Given the description of an element on the screen output the (x, y) to click on. 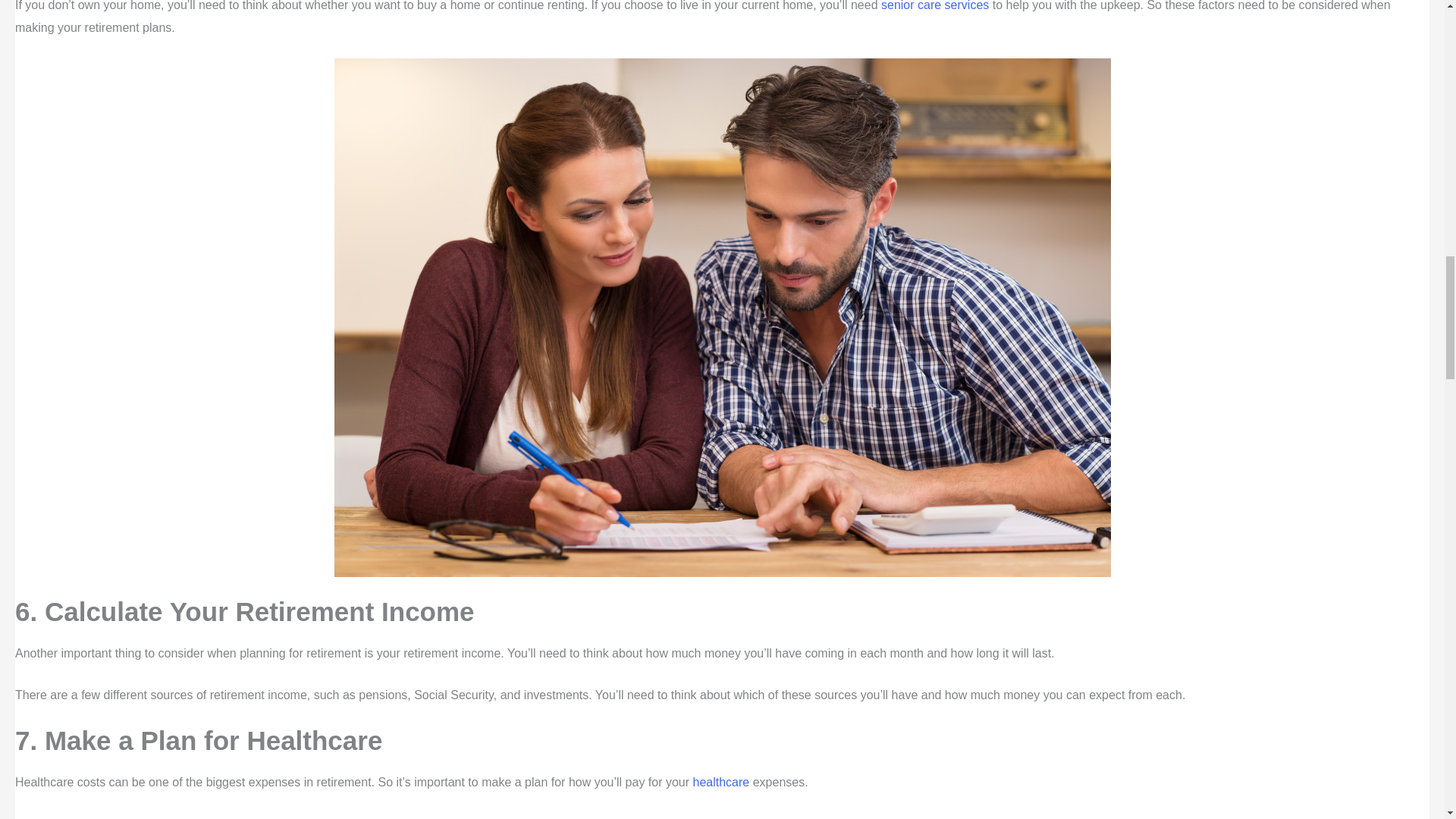
healthcare (721, 781)
senior care services (934, 5)
